Given the description of an element on the screen output the (x, y) to click on. 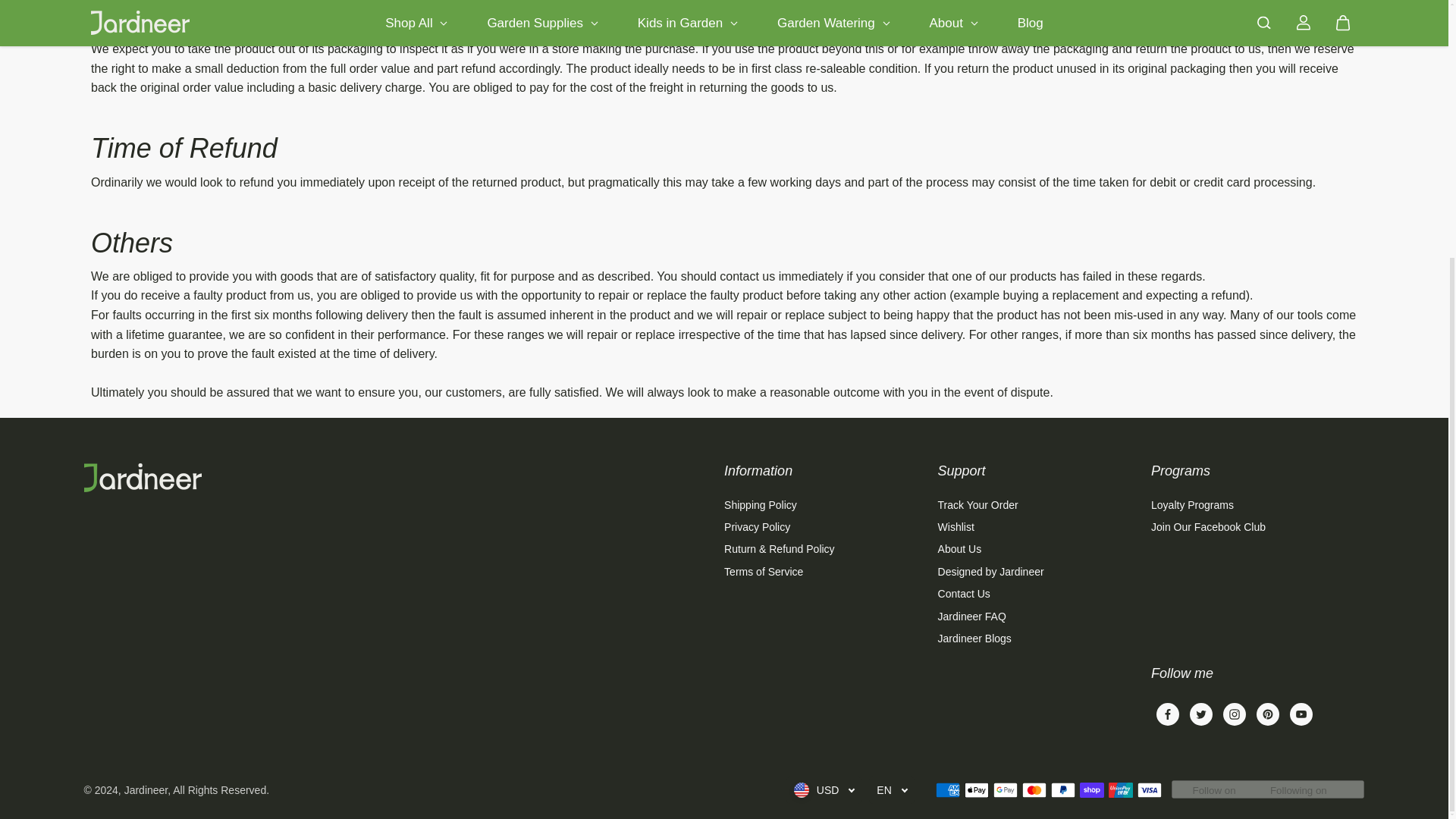
Pinterest (1267, 714)
American Express (947, 789)
Mastercard (1034, 789)
Apple Pay (975, 789)
Google Pay (1004, 789)
PayPal (1063, 789)
Instagram (1233, 714)
Facebook (1168, 714)
Twitter (1201, 714)
You tube (1300, 714)
